Given the description of an element on the screen output the (x, y) to click on. 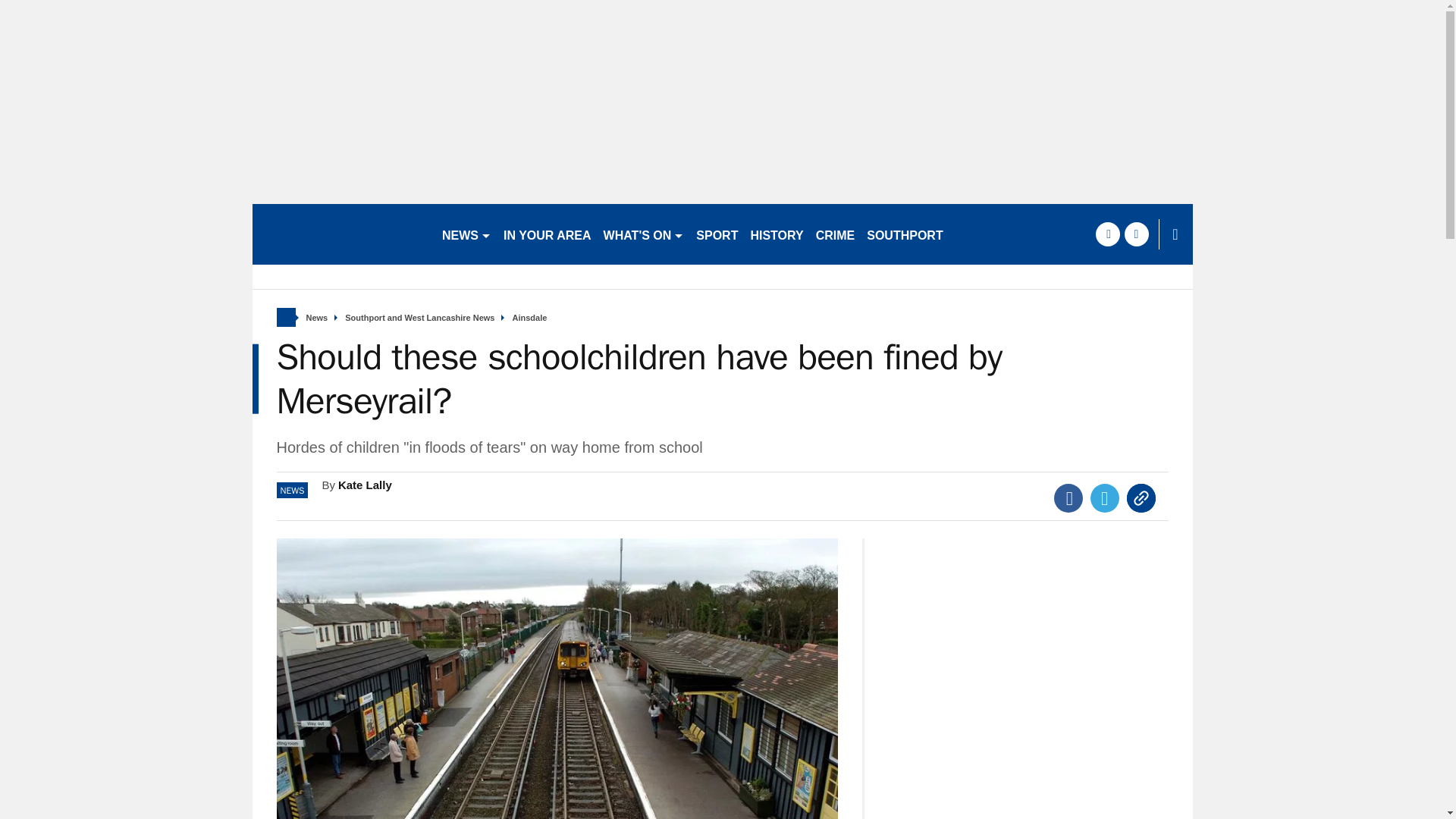
southportvisiter (339, 233)
Facebook (1068, 498)
twitter (1136, 233)
facebook (1106, 233)
WHAT'S ON (643, 233)
NEWS (466, 233)
Twitter (1104, 498)
SOUTHPORT FC (914, 233)
HISTORY (776, 233)
IN YOUR AREA (546, 233)
